Given the description of an element on the screen output the (x, y) to click on. 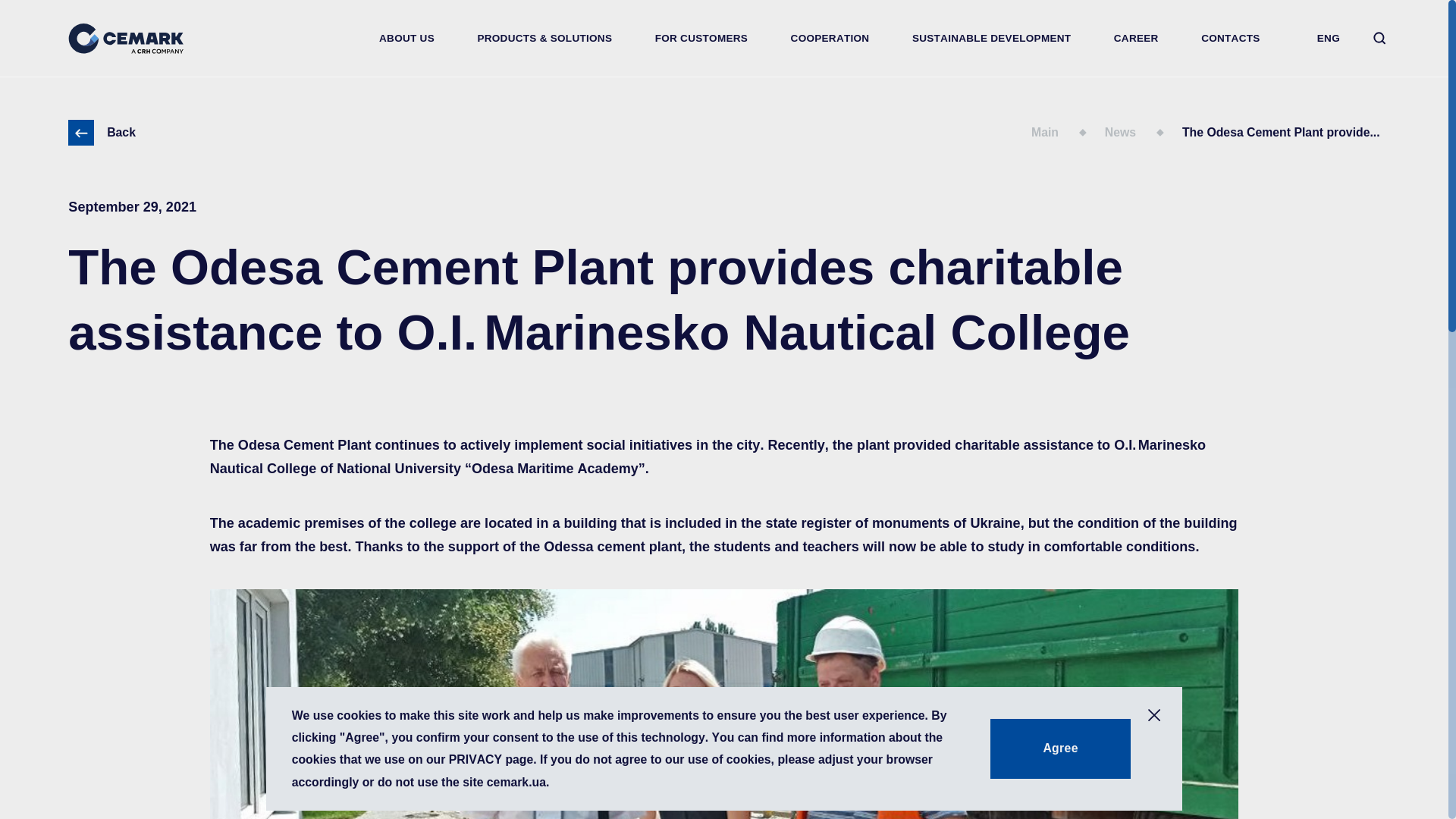
ABOUT US (406, 38)
CAREER (1136, 38)
FOR CUSTOMERS (700, 38)
News (1143, 132)
COOPERATION (828, 38)
SUSTAINABLE DEVELOPMENT (992, 38)
News (1143, 132)
Main (1067, 132)
Agree (1060, 748)
Back (101, 132)
Main (1067, 132)
CONTACTS (1230, 38)
